Given the description of an element on the screen output the (x, y) to click on. 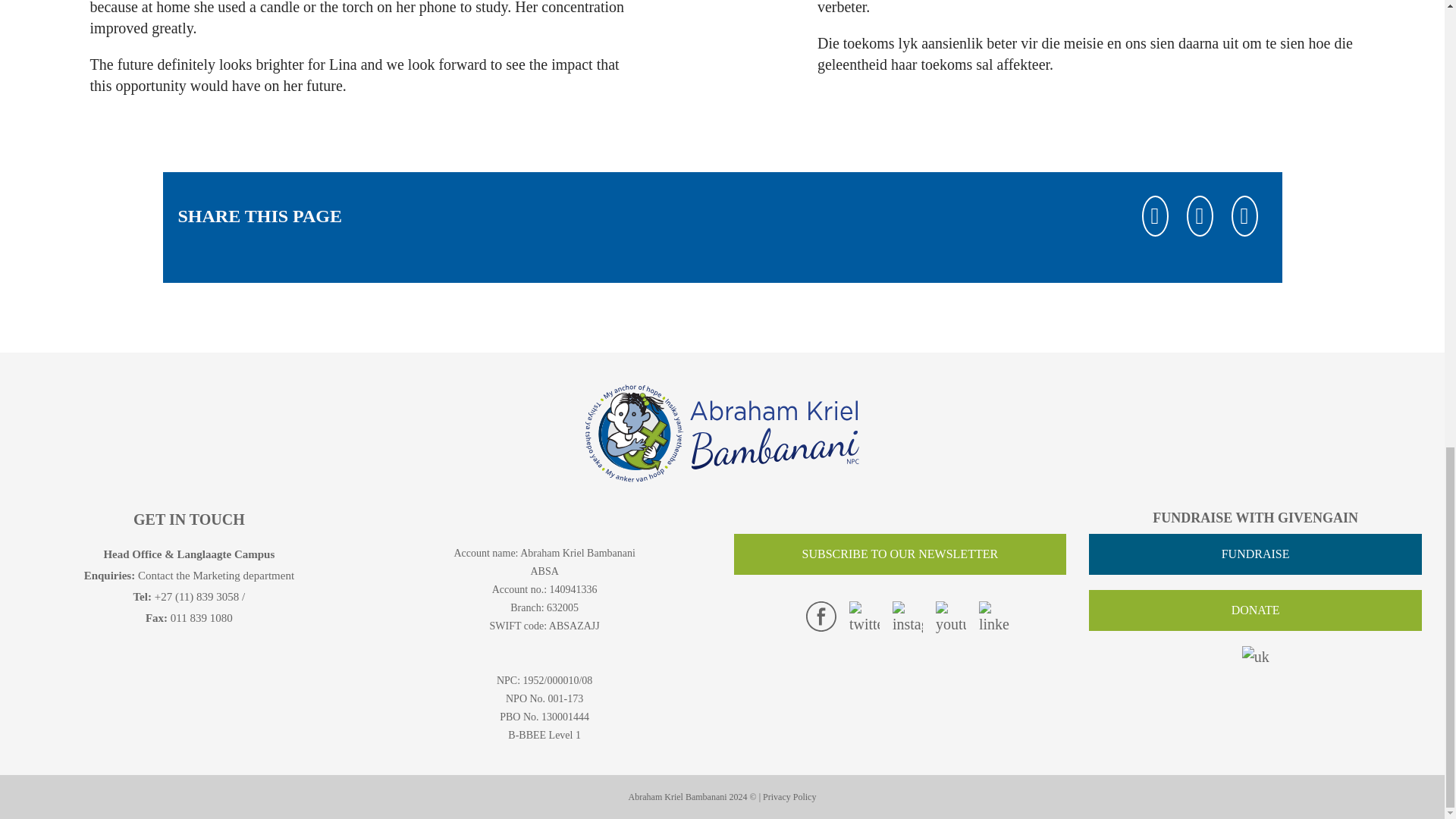
Youtube (951, 617)
Facebook (1154, 215)
Facebook (820, 616)
Twitter (1200, 215)
LinkedIn (1244, 215)
Twitter (863, 617)
Click to Call Us (197, 596)
Instgram (907, 617)
